Given the description of an element on the screen output the (x, y) to click on. 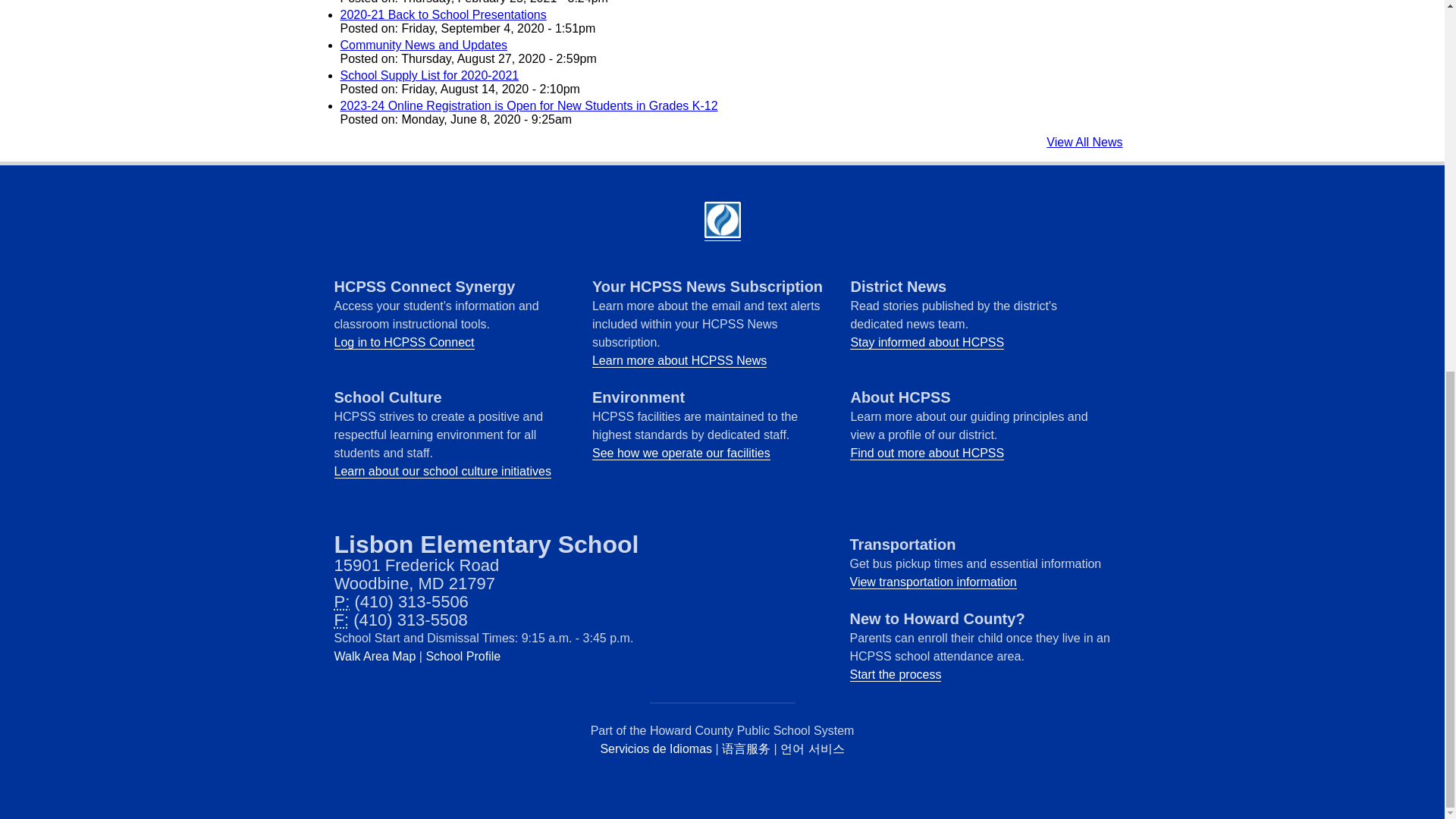
School Supply List for 2020-2021 (428, 74)
Community News and Updates (422, 44)
2020-21 Back to School Presentations (442, 14)
